Given the description of an element on the screen output the (x, y) to click on. 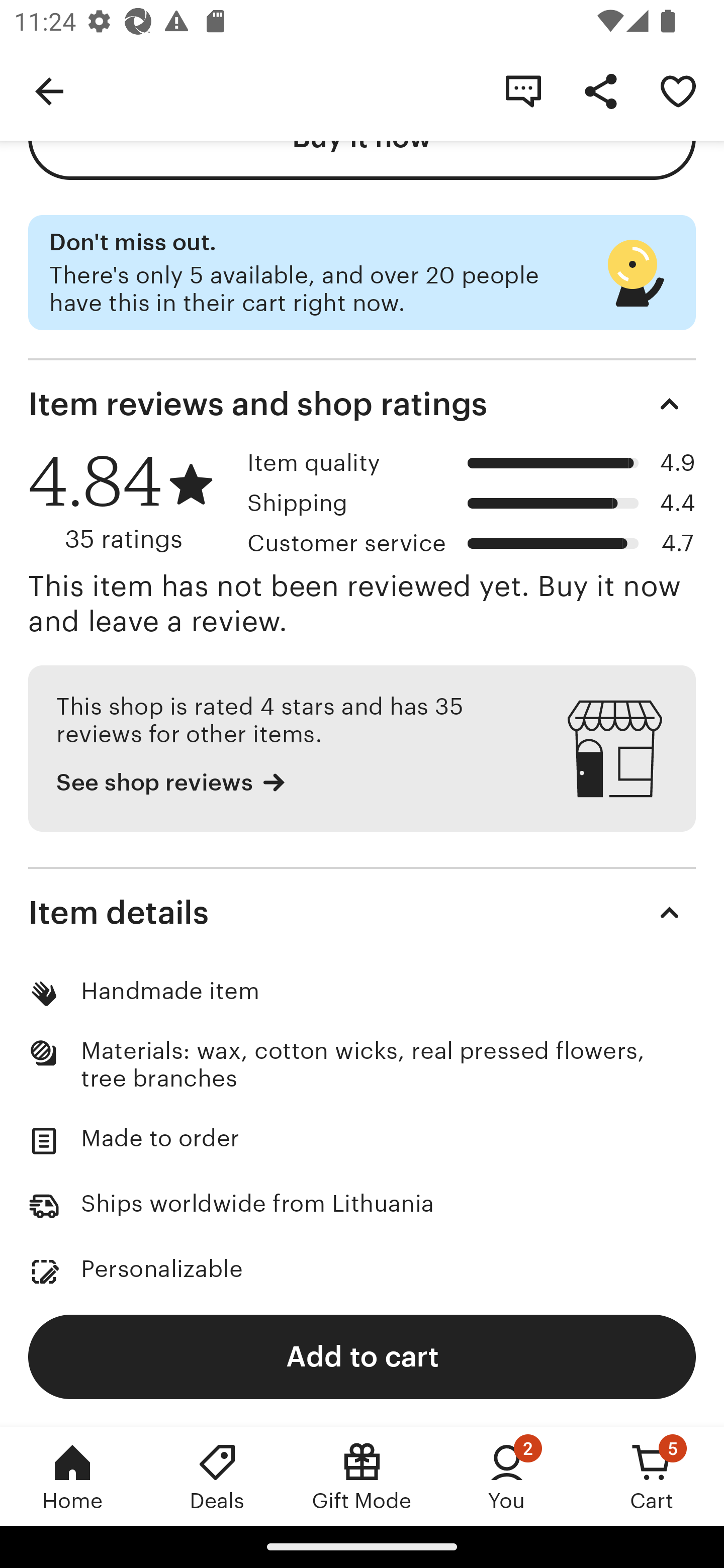
Navigate up (49, 90)
Contact shop (523, 90)
Share (600, 90)
Item reviews and shop ratings (362, 404)
4.84 35 ratings (130, 501)
Item details (362, 912)
Add to cart (361, 1355)
Deals (216, 1475)
Gift Mode (361, 1475)
You, 2 new notifications You (506, 1475)
Cart, 5 new notifications Cart (651, 1475)
